Given the description of an element on the screen output the (x, y) to click on. 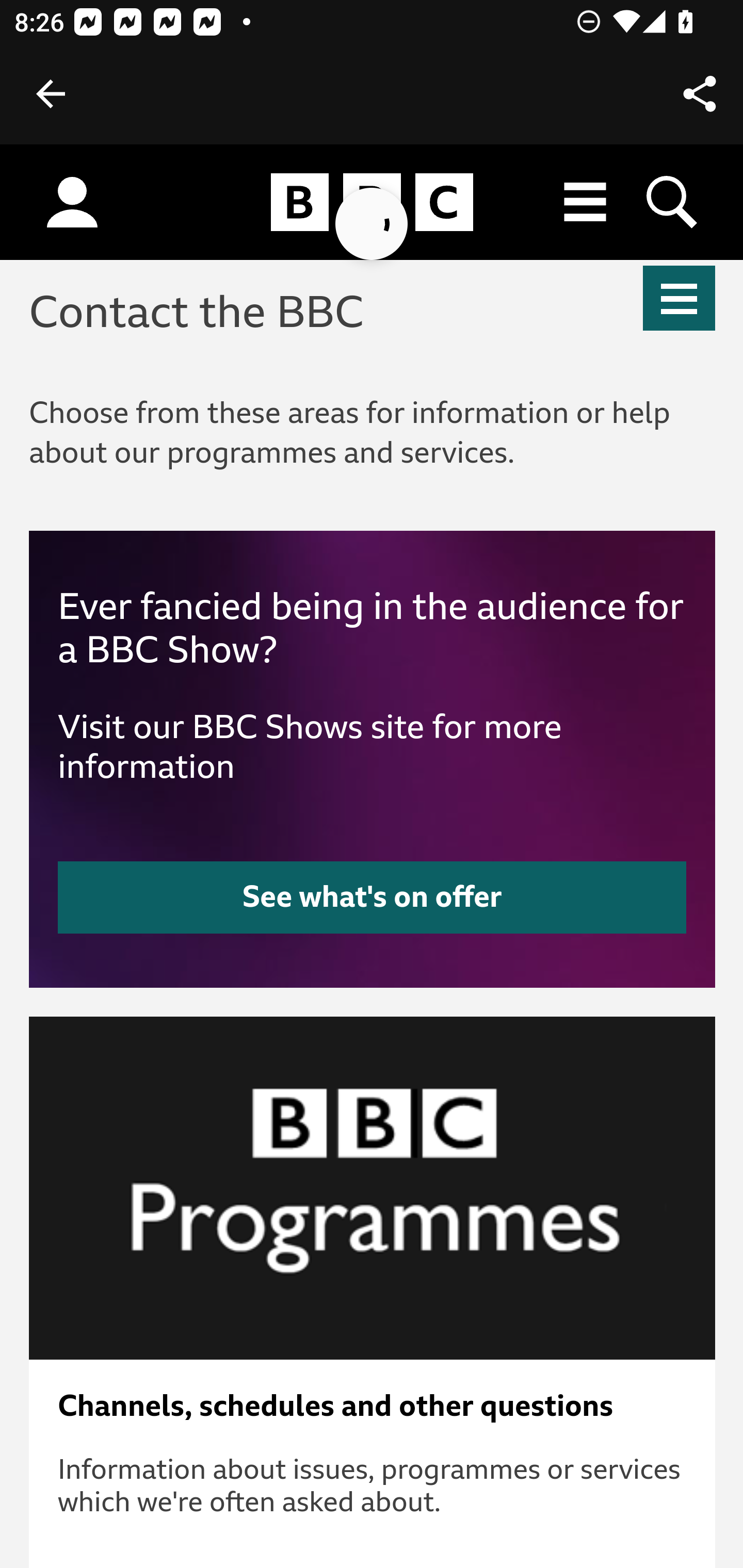
Back (50, 93)
Share (699, 93)
All BBC destinations menu (585, 202)
Search BBC (672, 202)
Sign in (71, 203)
Homepage (371, 203)
Navigation (679, 297)
See what's on offer (372, 896)
Channels, schedules and other questions (372, 1406)
